Given the description of an element on the screen output the (x, y) to click on. 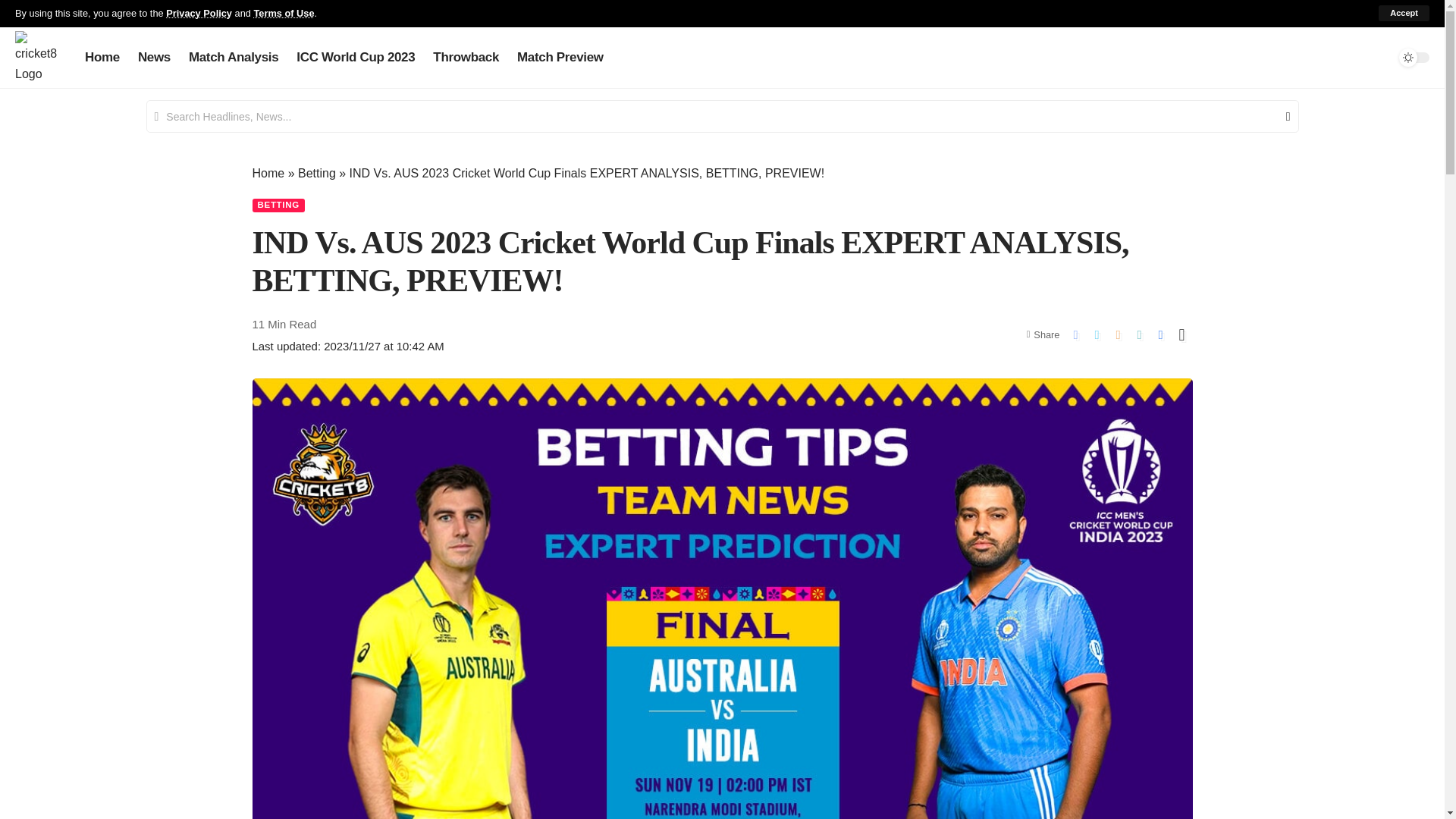
Throwback (465, 57)
Home (267, 173)
Search (1281, 116)
Home (102, 57)
News (154, 57)
ICC World Cup 2023 (354, 57)
BETTING (277, 205)
Terms of Use (283, 12)
Match Preview (560, 57)
Accept (1403, 12)
Match Analysis (232, 57)
Privacy Policy (198, 12)
Betting (317, 173)
